Given the description of an element on the screen output the (x, y) to click on. 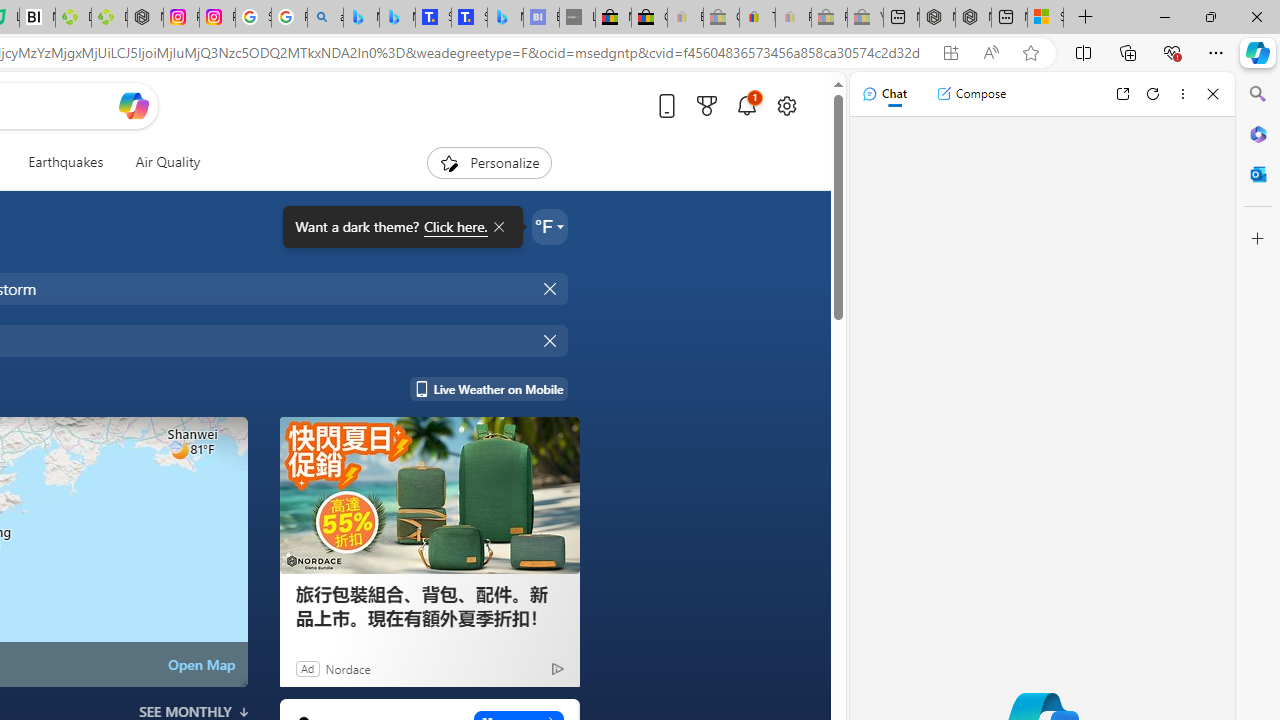
Weather settings (549, 226)
Open settings (786, 105)
Outlook (1258, 174)
Earthquakes (65, 162)
Shangri-La Bangkok, Hotel reviews and Room rates (469, 17)
Hide (551, 340)
Ad Choice (557, 668)
